Given the description of an element on the screen output the (x, y) to click on. 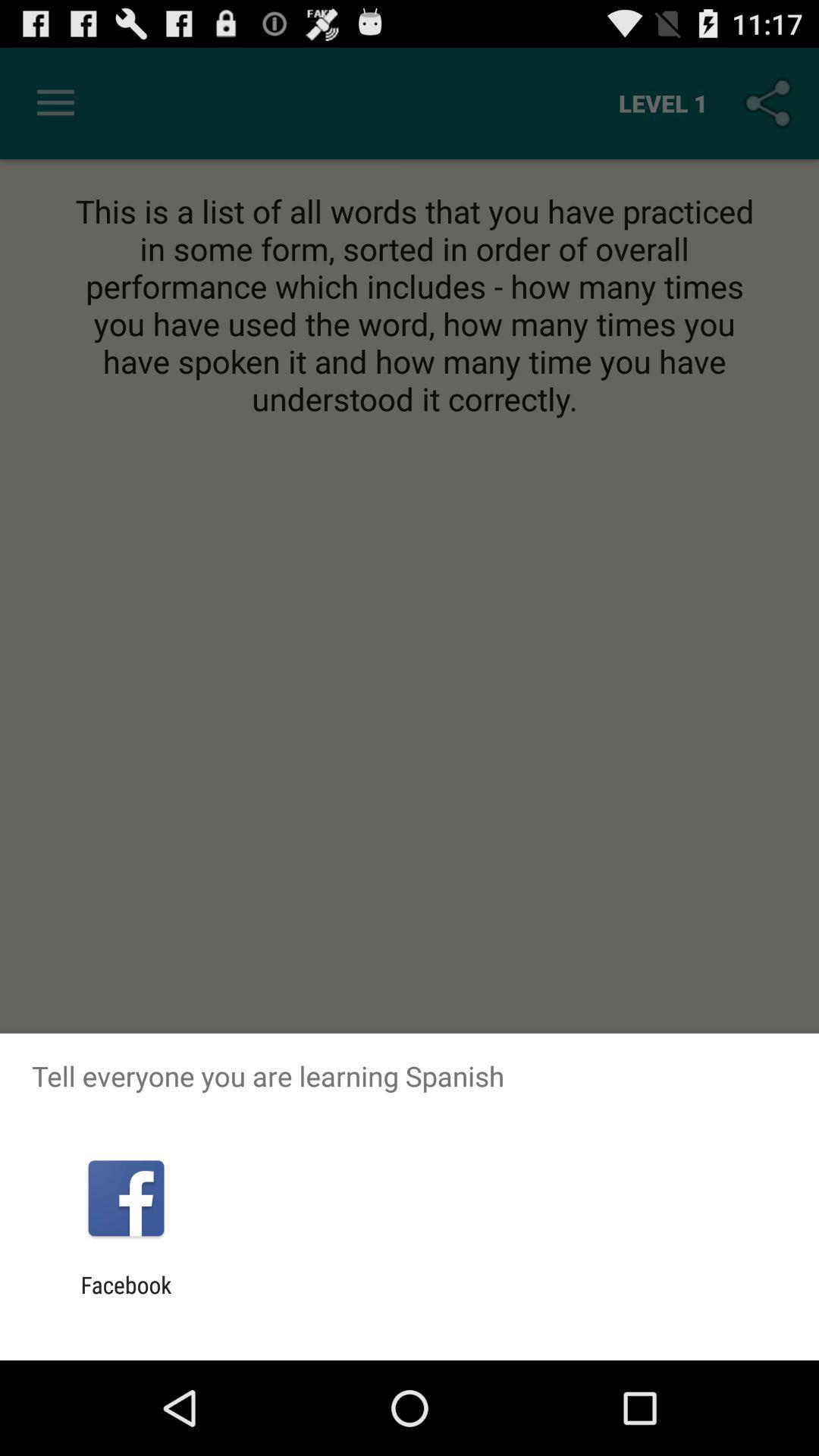
swipe to the facebook app (125, 1298)
